Given the description of an element on the screen output the (x, y) to click on. 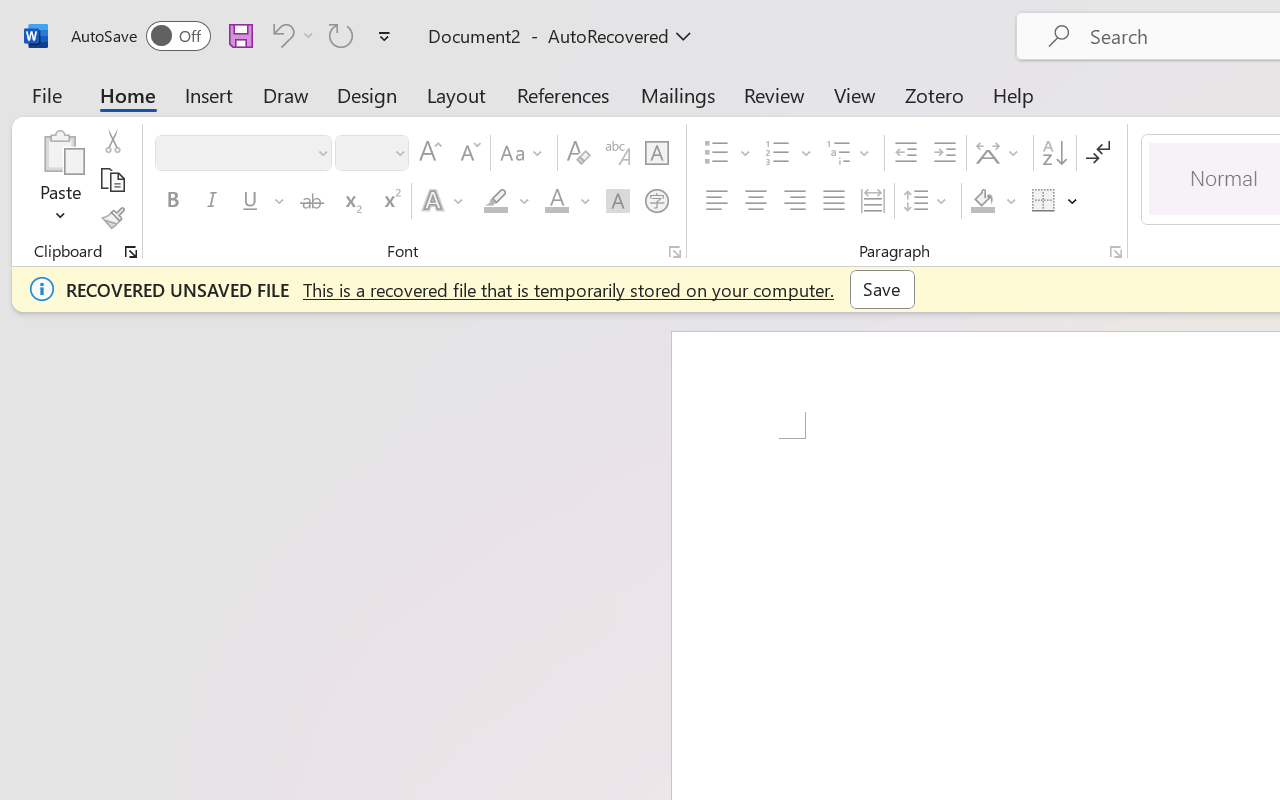
Paragraph... (1115, 252)
Help (1013, 94)
Format Painter (112, 218)
Strikethrough (312, 201)
Can't Undo (290, 35)
Decrease Indent (906, 153)
Asian Layout (1000, 153)
Copy (112, 179)
Line and Paragraph Spacing (927, 201)
